Given the description of an element on the screen output the (x, y) to click on. 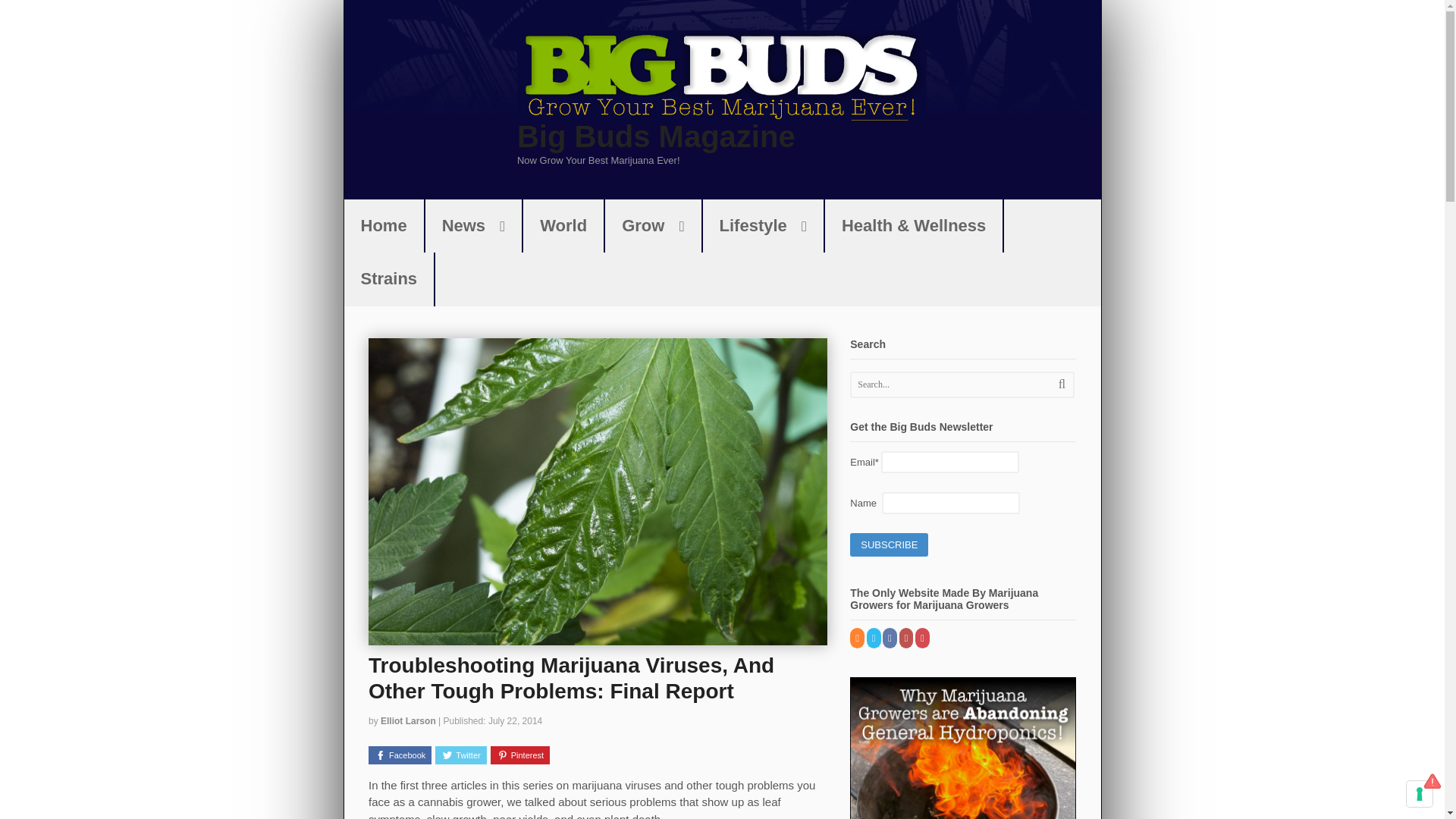
Twitter (460, 755)
2014-07-22T12:43:41-0400 (514, 720)
Elliot Larson (407, 720)
Strains (388, 278)
World (563, 225)
Grow (652, 225)
Big Buds Magazine (655, 136)
Home (383, 225)
Twitter (874, 638)
Posts by Elliot Larson (407, 720)
